Given the description of an element on the screen output the (x, y) to click on. 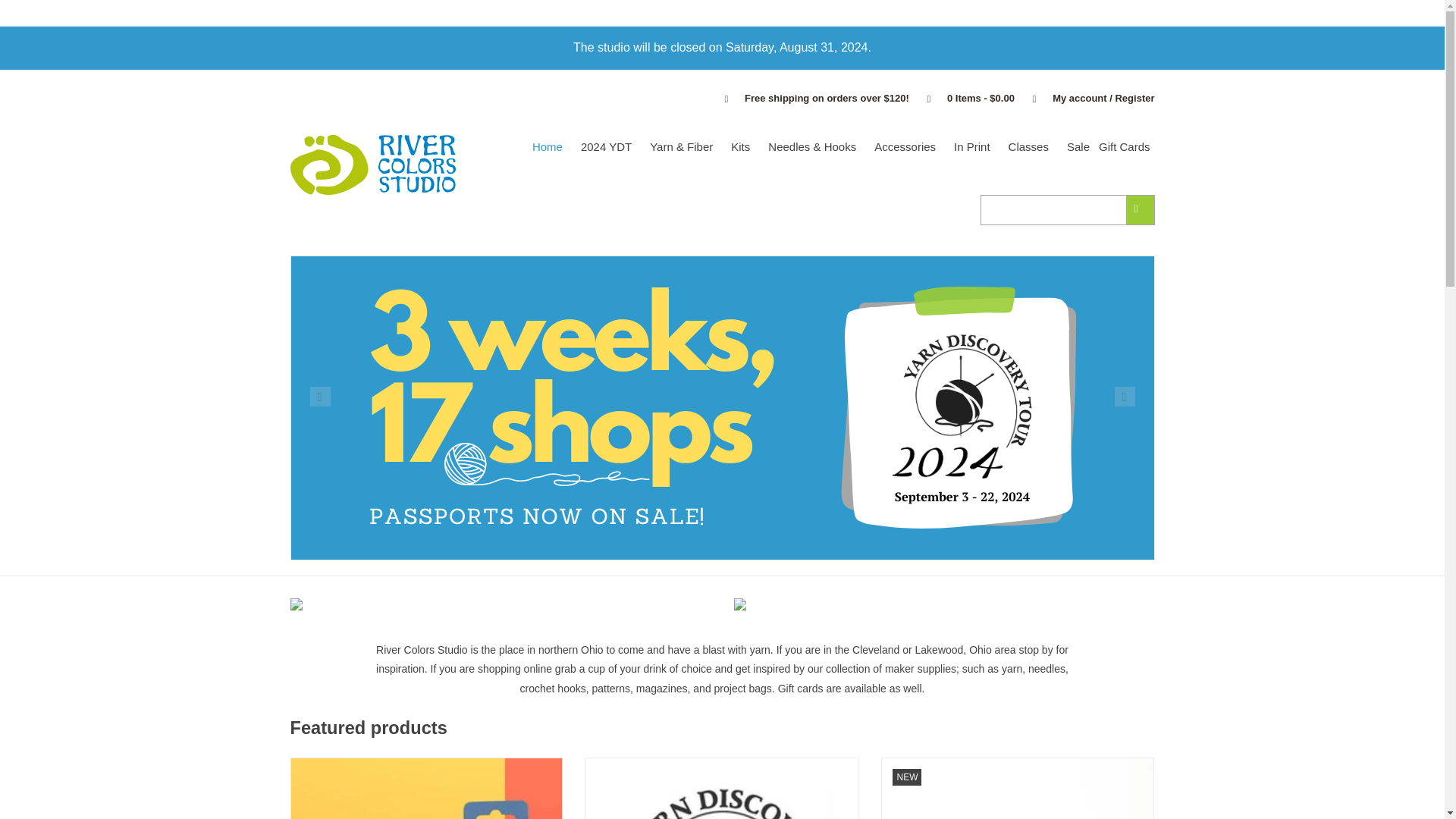
Accessories (904, 146)
Classes (1028, 146)
Gift Cards (1124, 146)
Home (547, 146)
Gift Cards (1124, 146)
Accessories (904, 146)
Kits (740, 146)
2024 YDT (606, 146)
Cart (963, 98)
2024 YDT (606, 146)
